Given the description of an element on the screen output the (x, y) to click on. 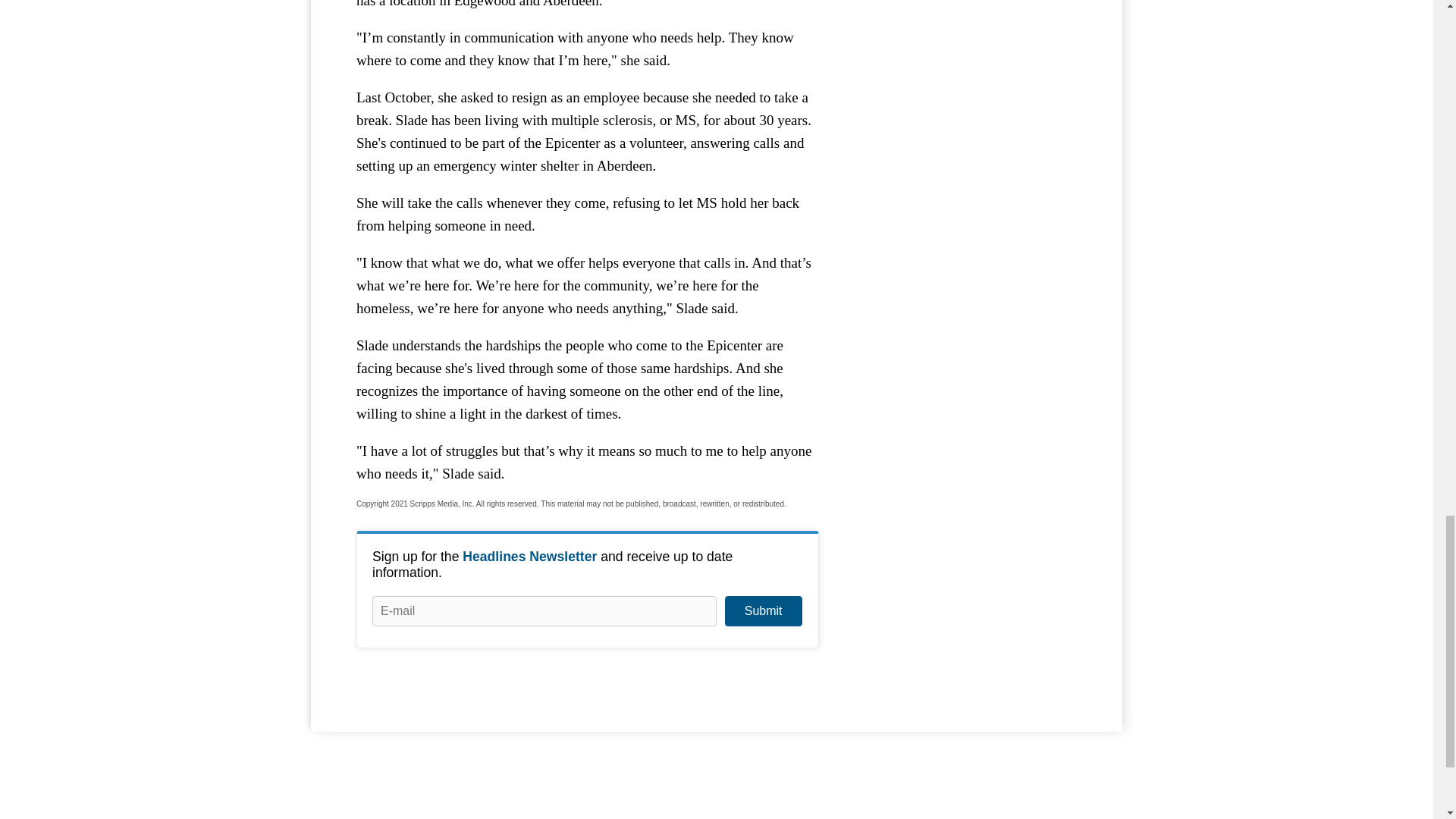
Submit (763, 611)
